Given the description of an element on the screen output the (x, y) to click on. 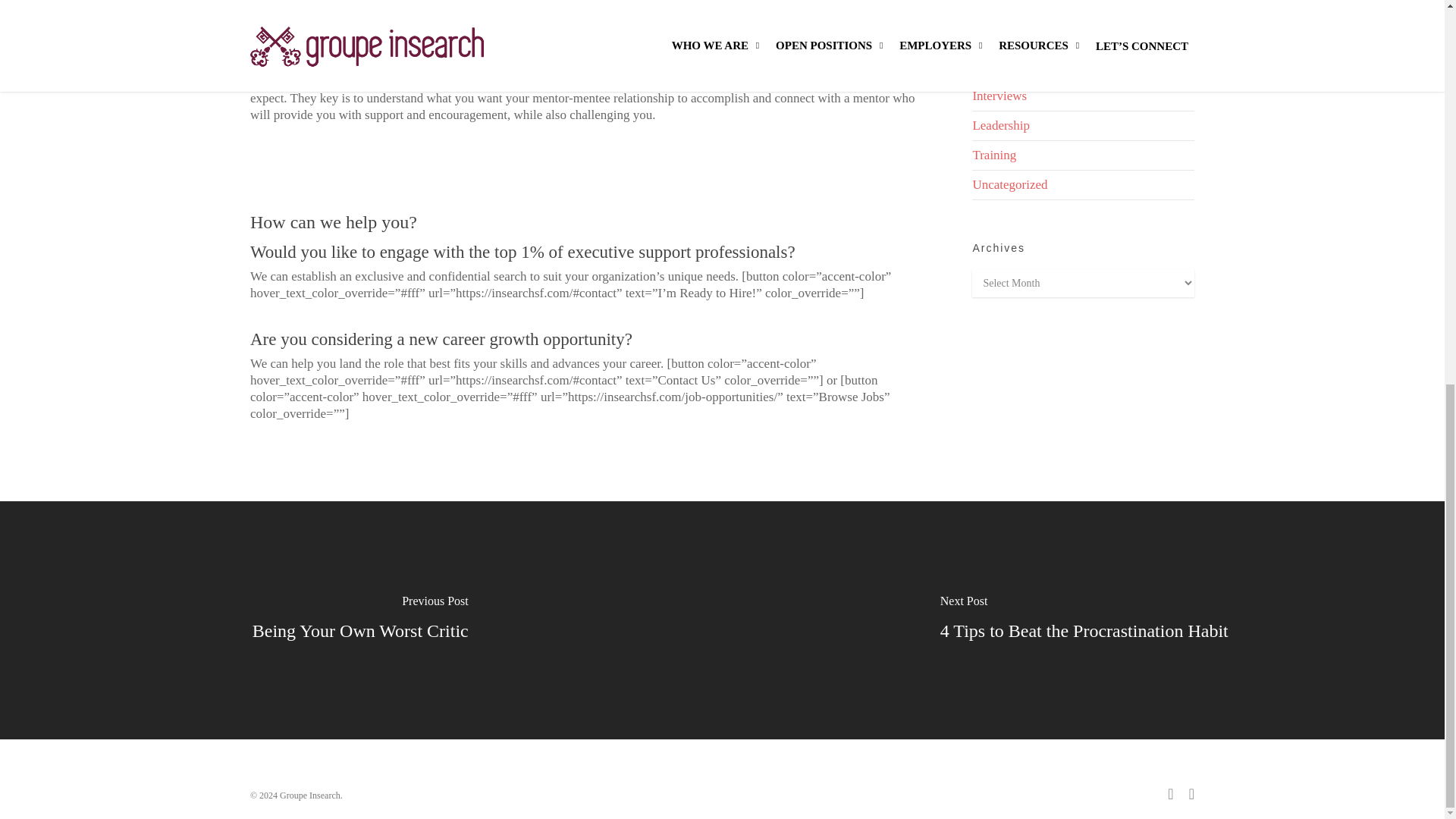
Industry Trends (1082, 66)
Leadership (1082, 125)
Interviews (1082, 96)
Executive Assistant (1082, 11)
Hiring Strategies (1082, 37)
